Given the description of an element on the screen output the (x, y) to click on. 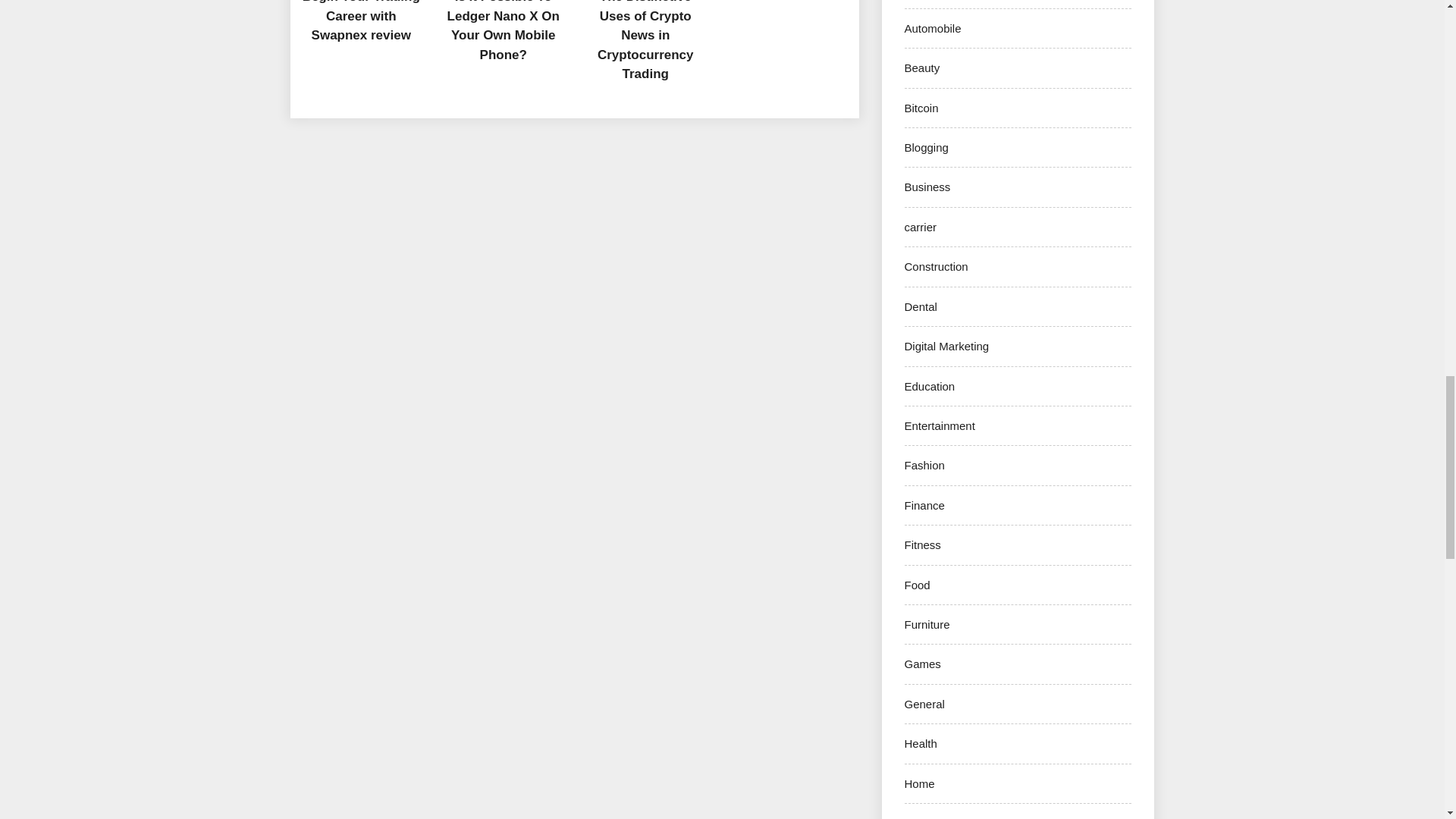
Is It Possible To Ledger Nano X On Your Own Mobile Phone? (502, 31)
Begin Your Trading Career with Swapnex review (361, 21)
